Given the description of an element on the screen output the (x, y) to click on. 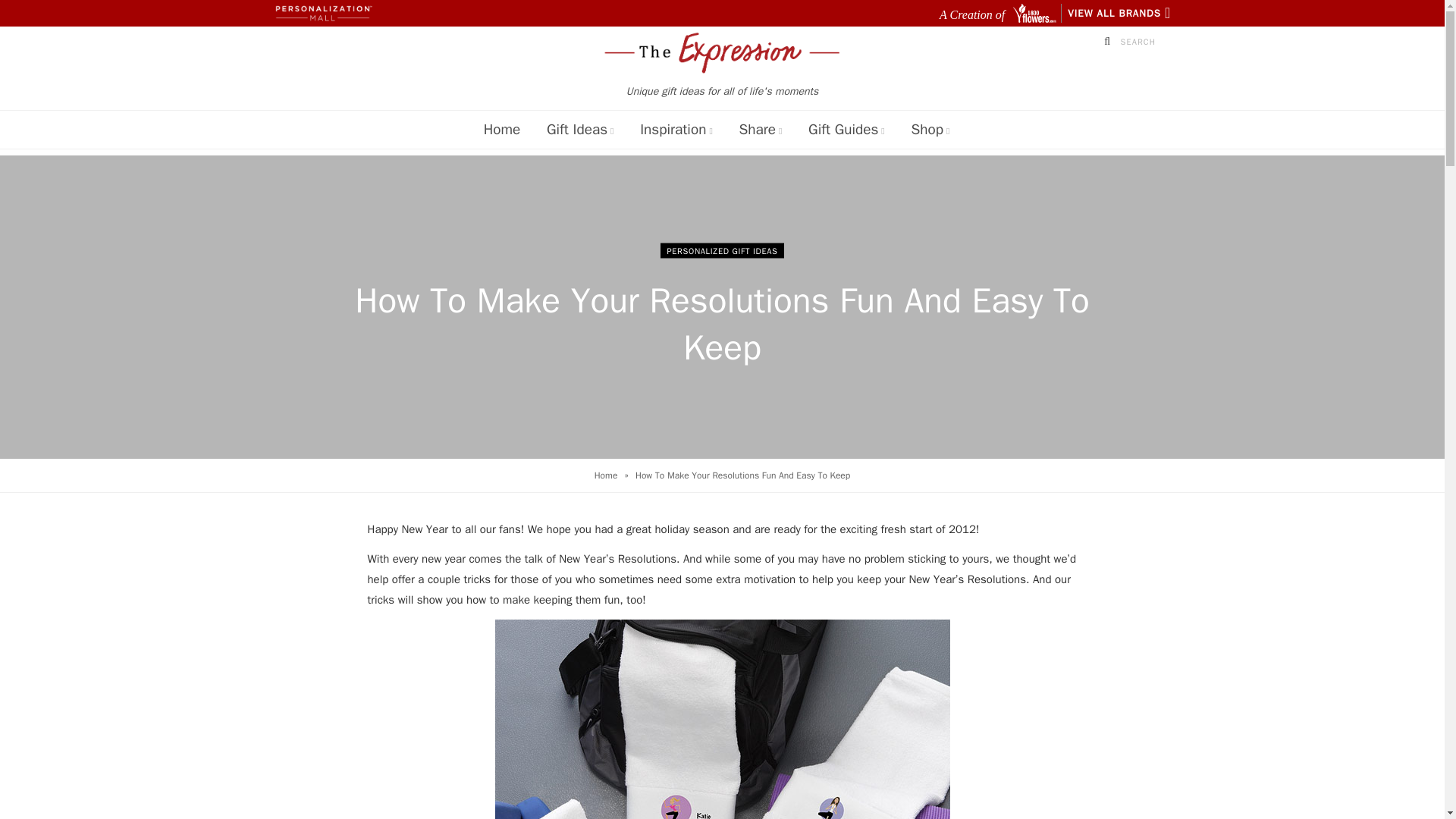
VIEW ALL BRANDS (1118, 13)
Gift Ideas (579, 129)
Inspiration (675, 129)
1-800-Flowers.com (1035, 13)
Personalization Mall (319, 13)
Home (501, 129)
Gift Ideas (579, 129)
Share (759, 129)
